Given the description of an element on the screen output the (x, y) to click on. 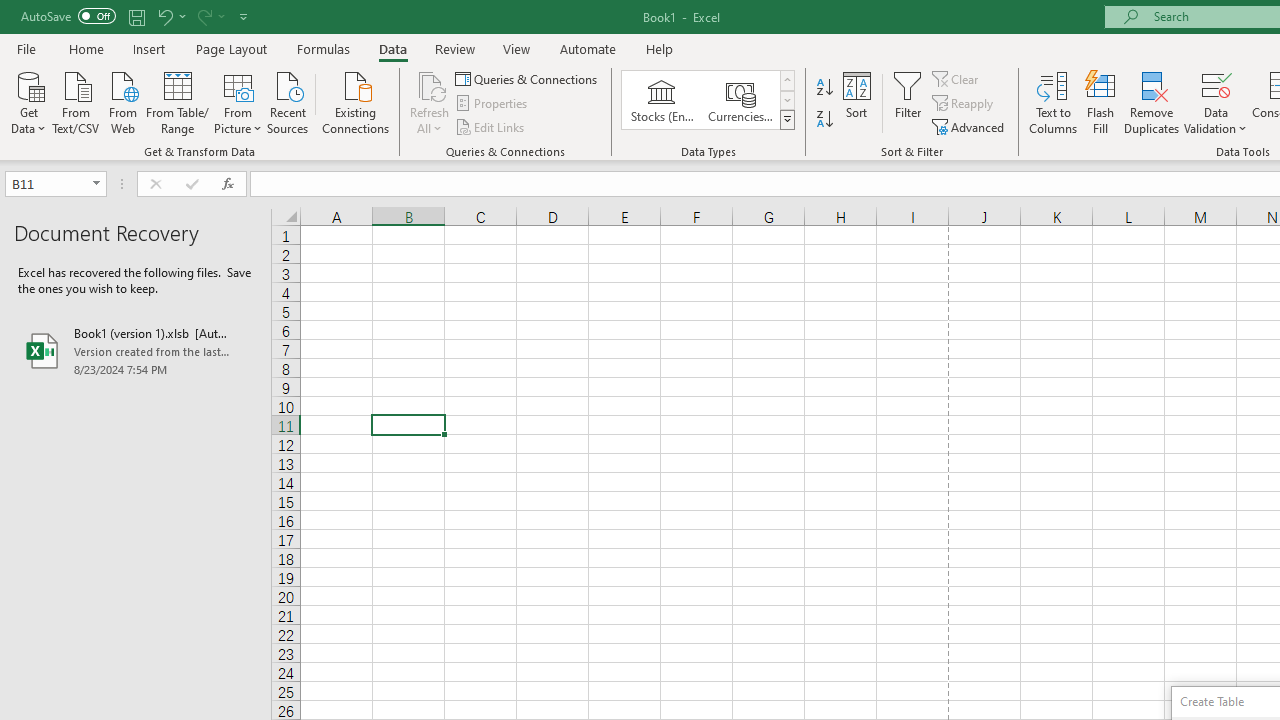
Book1 (version 1).xlsb  [AutoRecovered] (136, 350)
Sort... (856, 102)
AutomationID: ConvertToLinkedEntity (708, 99)
Data Types (786, 120)
From Web (122, 101)
Data Validation... (1215, 84)
Quick Access Toolbar (136, 16)
Advanced... (970, 126)
Get Data (28, 101)
